Given the description of an element on the screen output the (x, y) to click on. 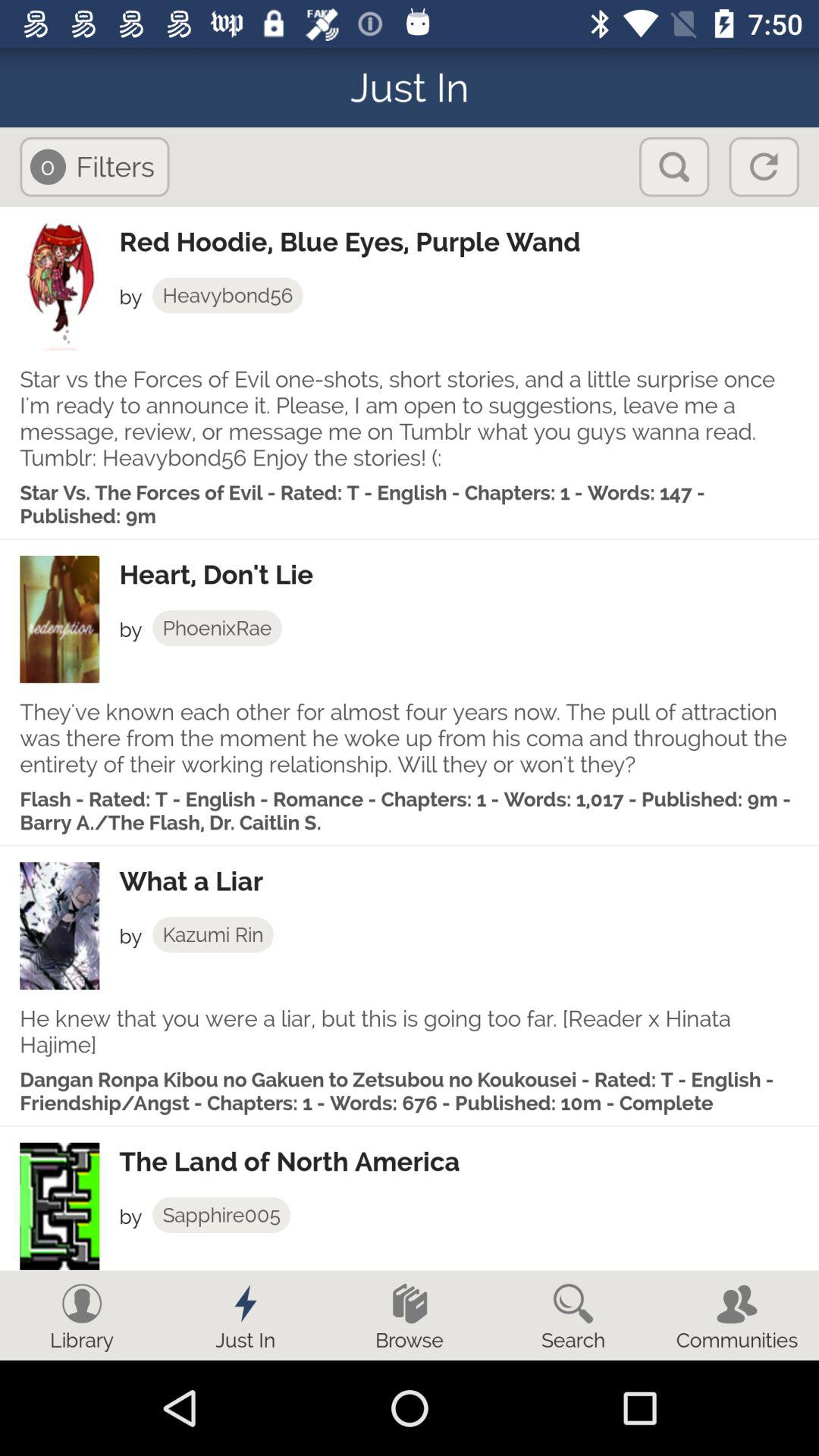
jump to they ve known (409, 737)
